Given the description of an element on the screen output the (x, y) to click on. 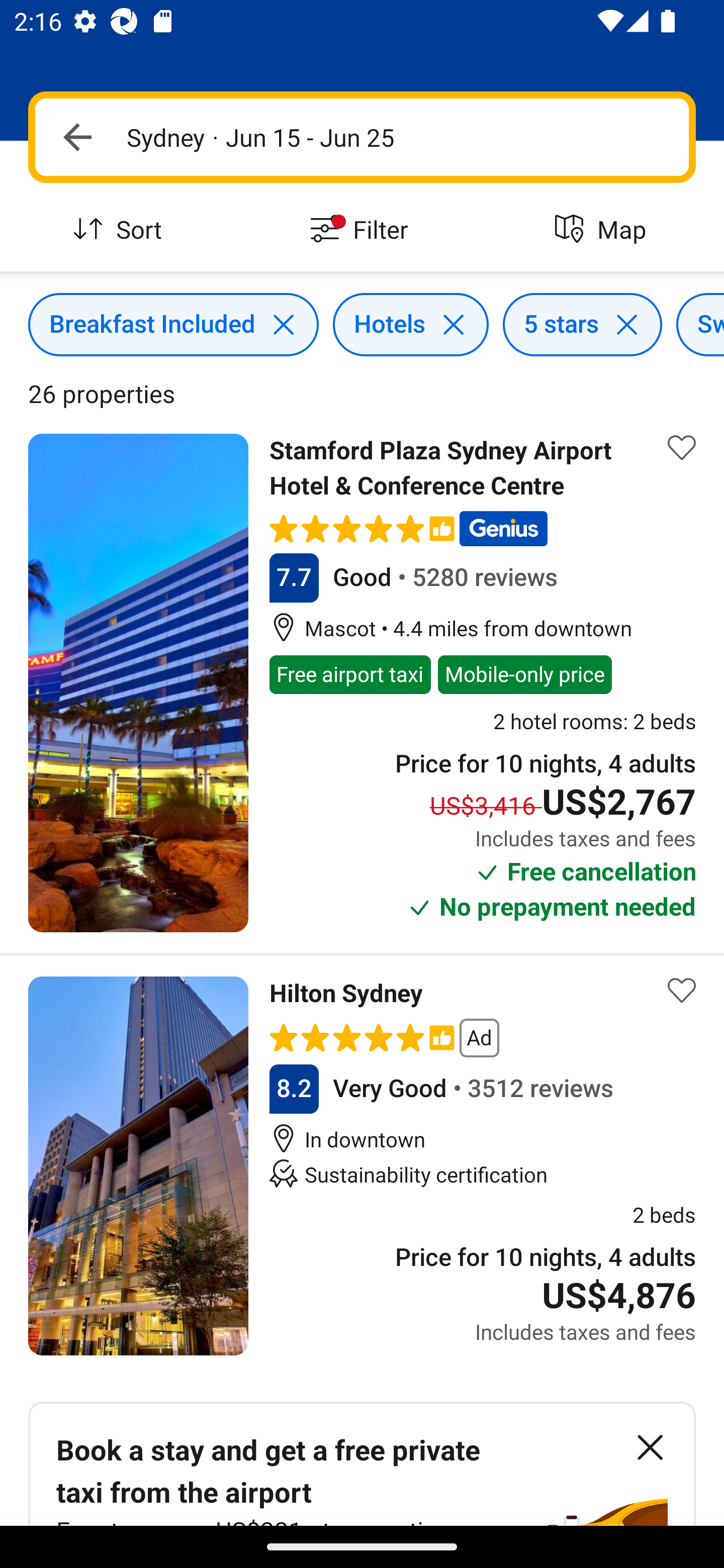
Navigate up Sydney · Jun 15 - Jun 25 (362, 136)
Navigate up (77, 136)
Sort (120, 230)
Filter (361, 230)
Map (603, 230)
Save property to list (681, 447)
Save property to list (681, 990)
Dismiss banner button (650, 1446)
